Given the description of an element on the screen output the (x, y) to click on. 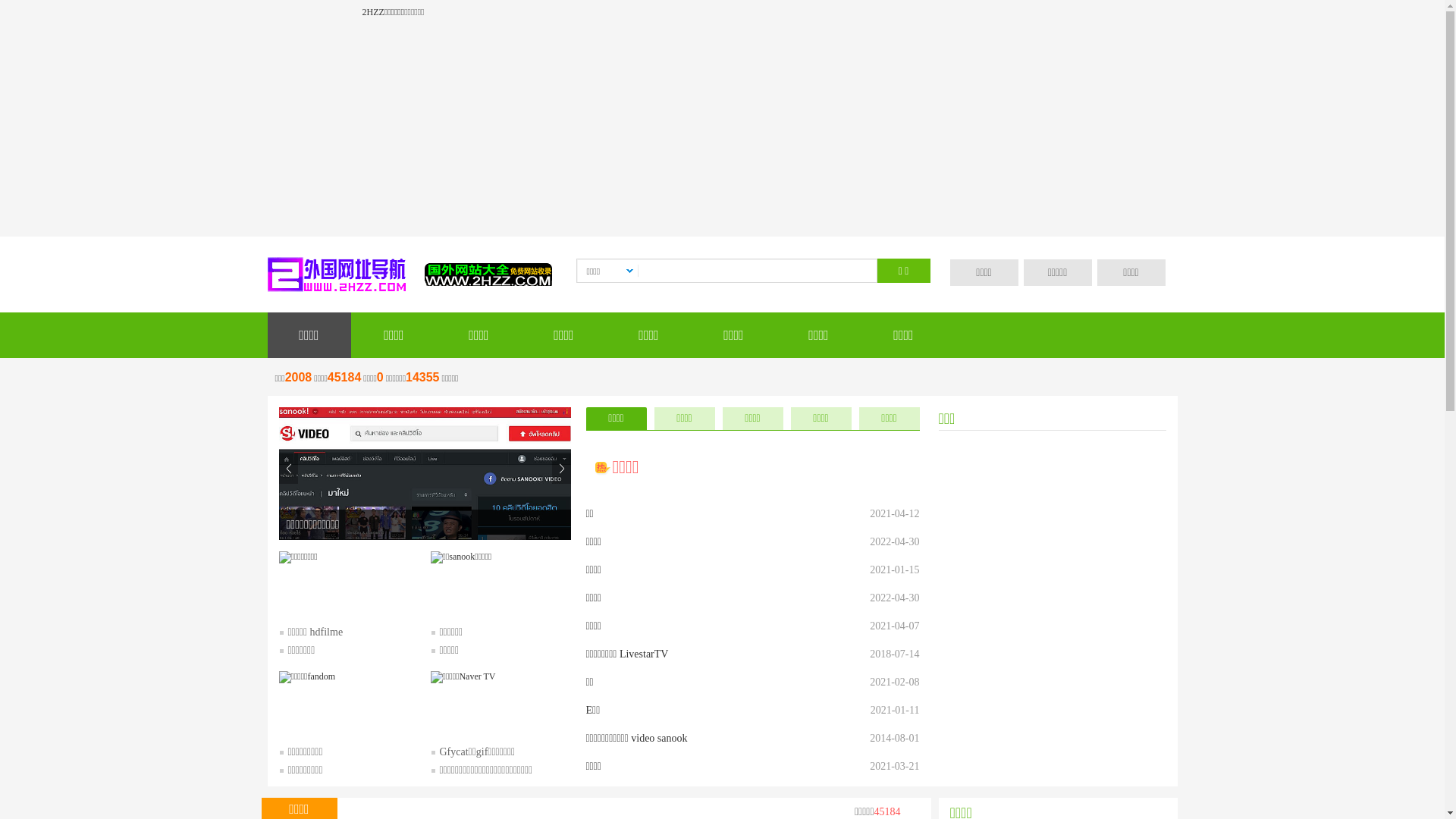
Advertisement Element type: hover (721, 130)
